Given the description of an element on the screen output the (x, y) to click on. 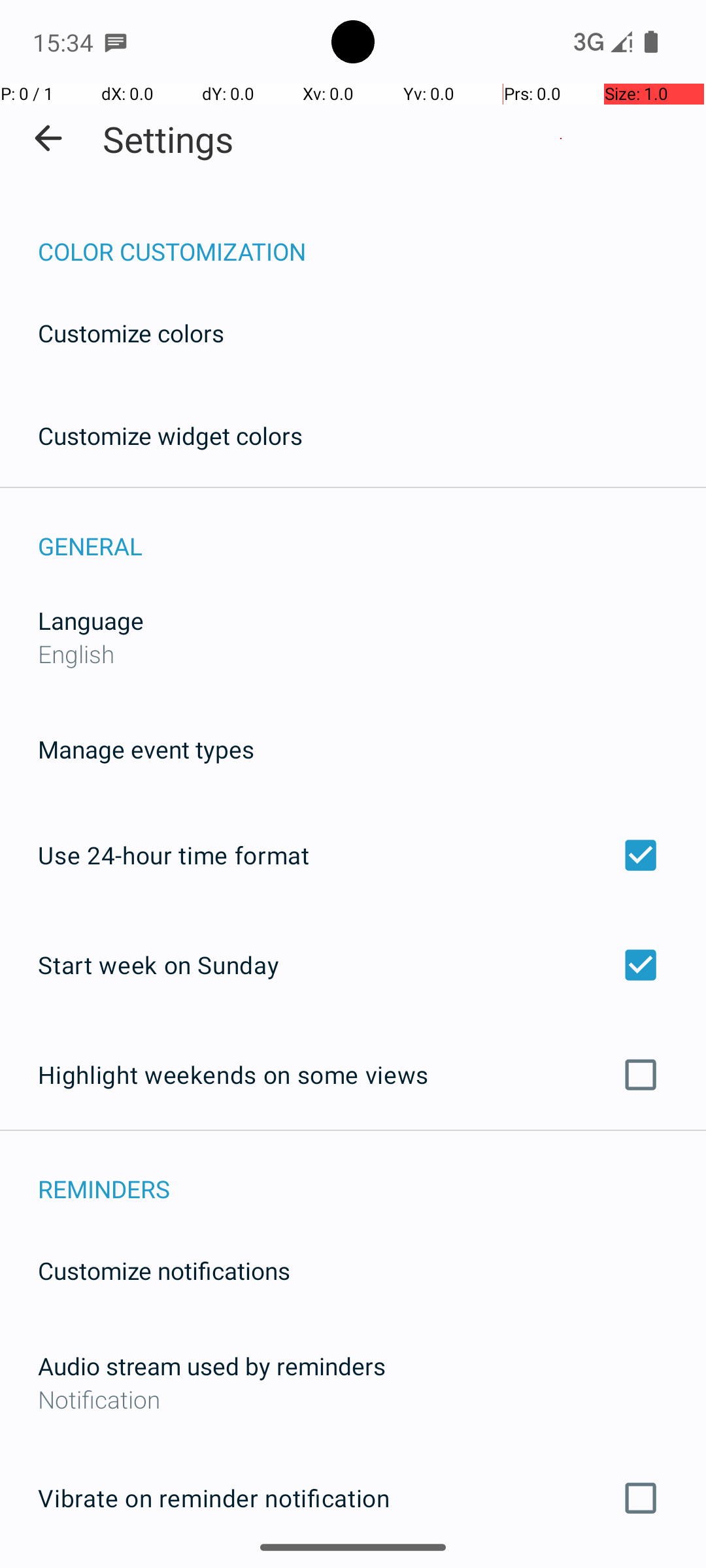
COLOR CUSTOMIZATION Element type: android.widget.TextView (371, 237)
REMINDERS Element type: android.widget.TextView (371, 1174)
Customize widget colors Element type: android.widget.TextView (170, 435)
English Element type: android.widget.TextView (75, 653)
Use 24-hour time format Element type: android.widget.CheckBox (352, 855)
Start week on Sunday Element type: android.widget.CheckBox (352, 964)
Highlight weekends on some views Element type: android.widget.CheckBox (352, 1074)
Customize notifications Element type: android.widget.TextView (163, 1270)
Audio stream used by reminders Element type: android.widget.TextView (211, 1365)
Vibrate on reminder notification Element type: android.widget.CheckBox (352, 1497)
Loop reminders until dismissed Element type: android.widget.CheckBox (352, 1567)
